Given the description of an element on the screen output the (x, y) to click on. 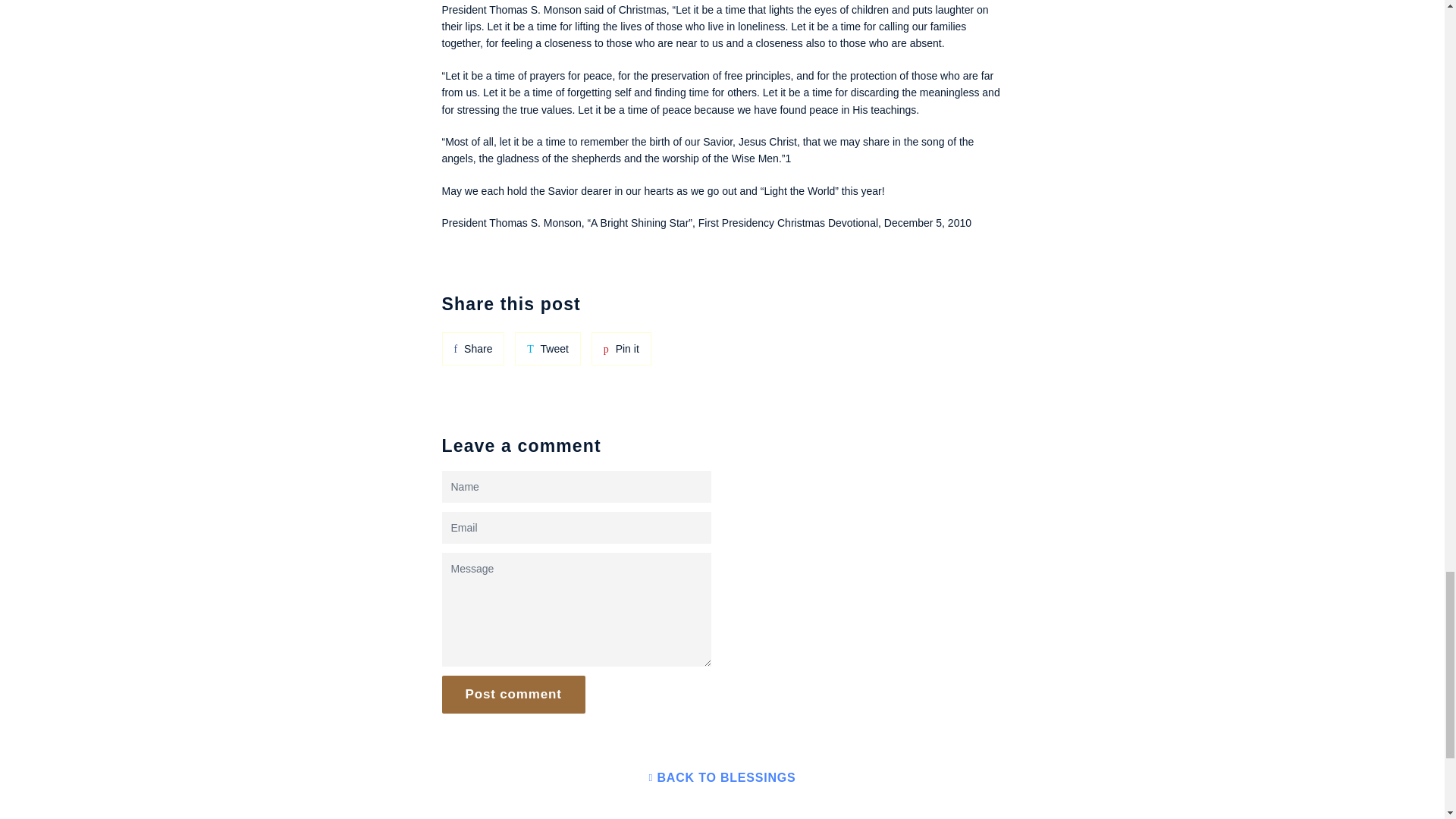
Post comment (513, 693)
Pin on Pinterest (620, 348)
Tweet on Twitter (547, 348)
Share on Facebook (472, 348)
